Given the description of an element on the screen output the (x, y) to click on. 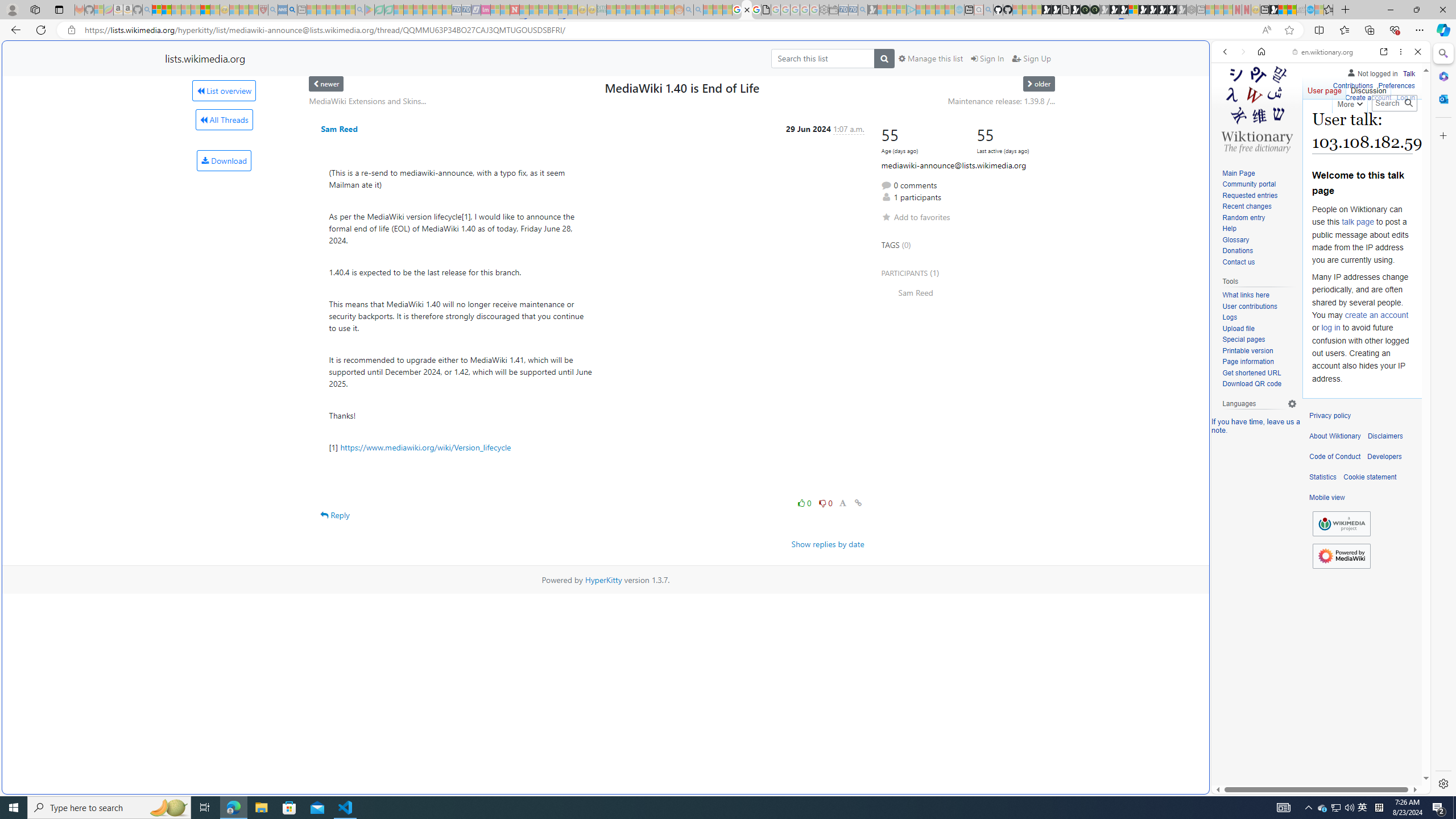
Mobile view (1326, 497)
MediaWiki Extensions and Skins... (367, 100)
https://www.mediawiki.org/wiki/Version_lifecycle (425, 446)
Kinda Frugal - MSN - Sleeping (649, 9)
Powered by MediaWiki (1341, 555)
14 Common Myths Debunked By Scientific Facts - Sleeping (533, 9)
Home | Sky Blue Bikes - Sky Blue Bikes - Sleeping (959, 9)
Privacy policy (1329, 415)
Web scope (1230, 102)
WEB   (1230, 130)
The Weather Channel - MSN - Sleeping (175, 9)
Random entry (1243, 216)
